Given the description of an element on the screen output the (x, y) to click on. 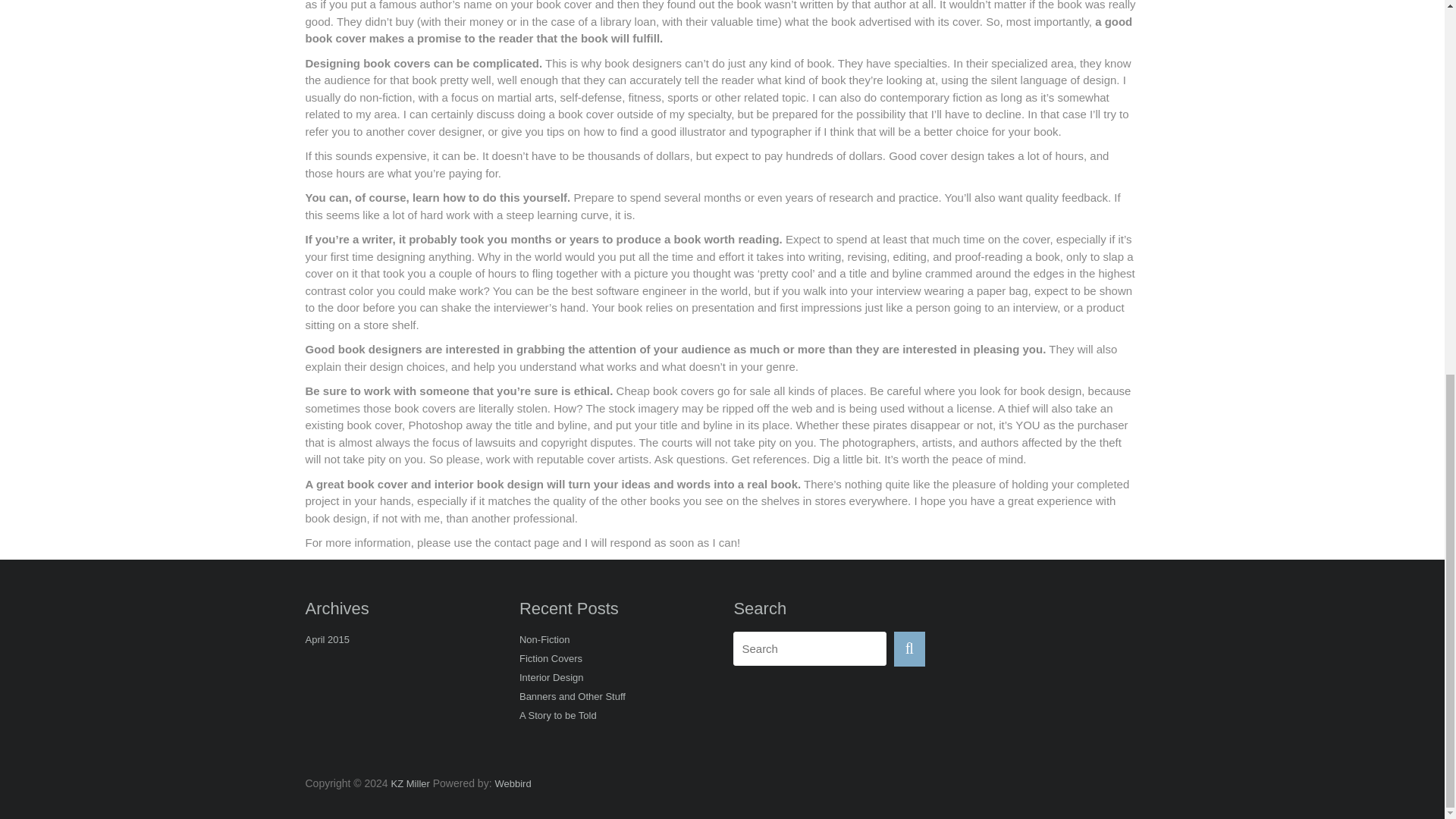
A Story to be Told (557, 716)
April 2015 (326, 640)
Banners and Other Stuff (572, 697)
Fiction Covers (550, 659)
Non-Fiction (544, 640)
KZ Miller (410, 783)
Interior Design (551, 678)
KZ Miller (410, 783)
Webbird (513, 783)
